Given the description of an element on the screen output the (x, y) to click on. 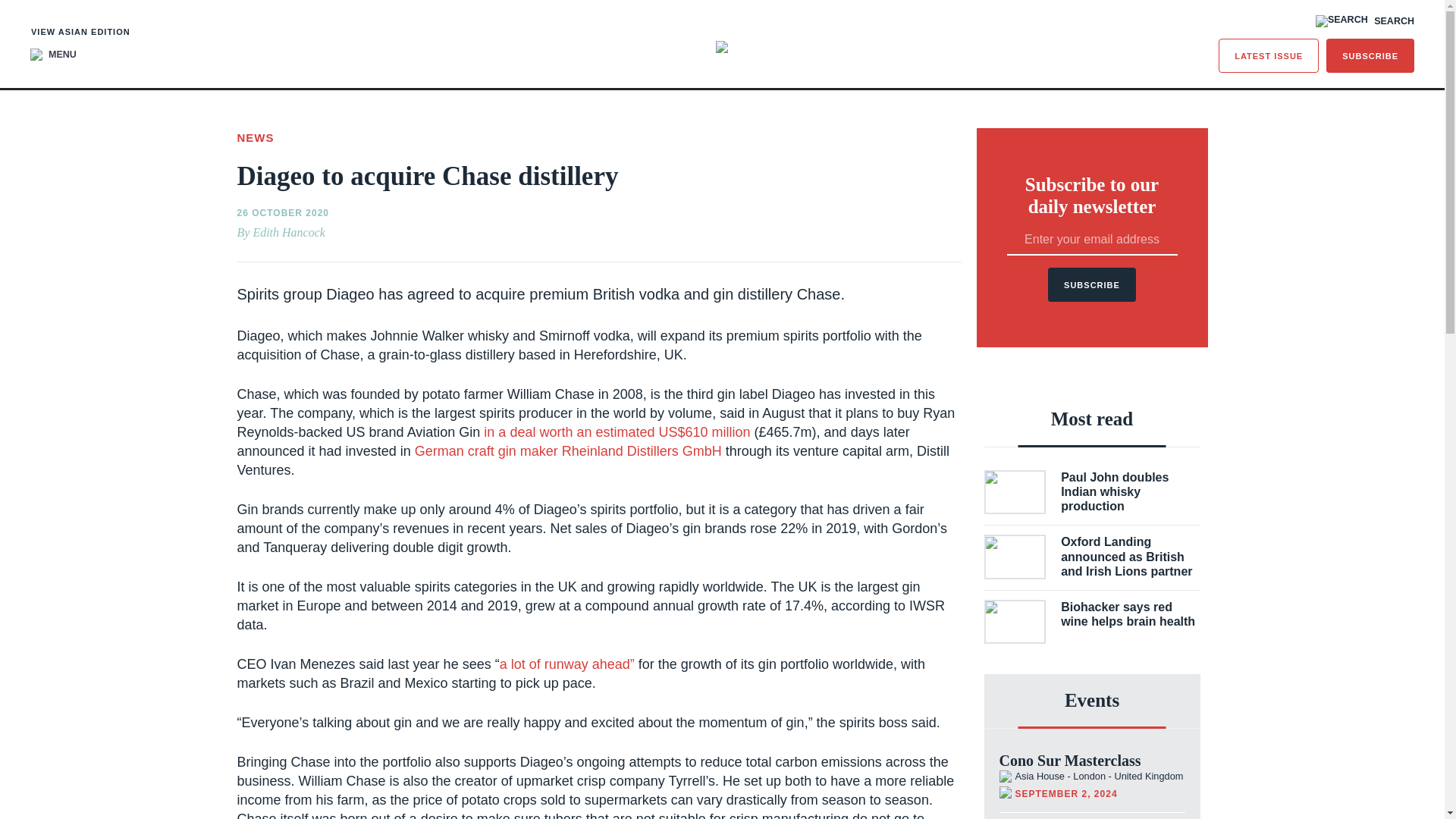
The Drinks Business (722, 46)
MENU (53, 54)
SUBSCRIBE (1369, 55)
German craft gin maker Rheinland Distillers GmbH (568, 450)
SEARCH (1364, 21)
LATEST ISSUE (1268, 55)
VIEW ASIAN EDITION (80, 31)
